Given the description of an element on the screen output the (x, y) to click on. 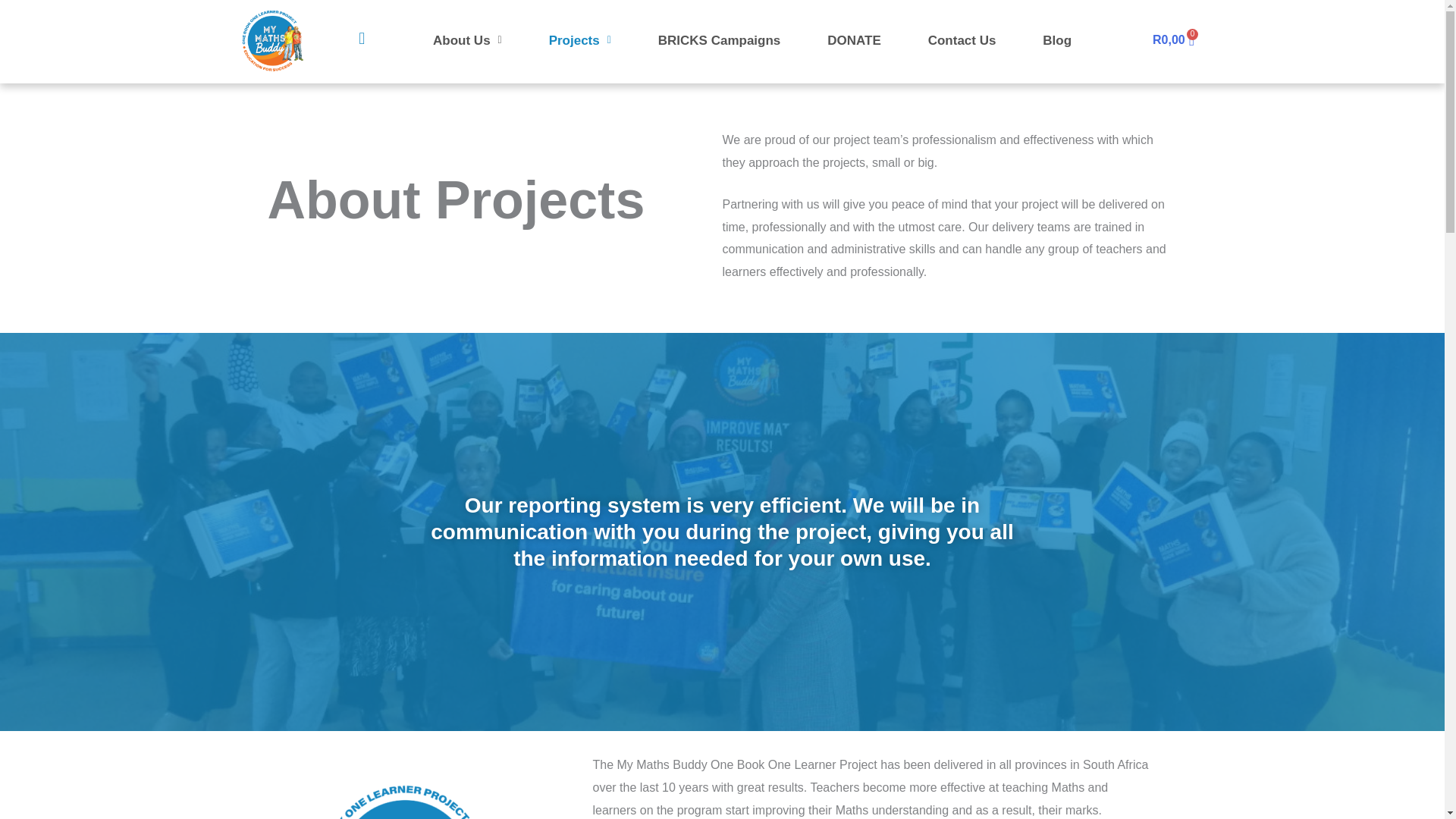
Projects (579, 40)
Contact Us (962, 40)
About Us (467, 40)
BRICKS Campaigns (1172, 39)
Blog (718, 40)
DONATE (1056, 40)
